Given the description of an element on the screen output the (x, y) to click on. 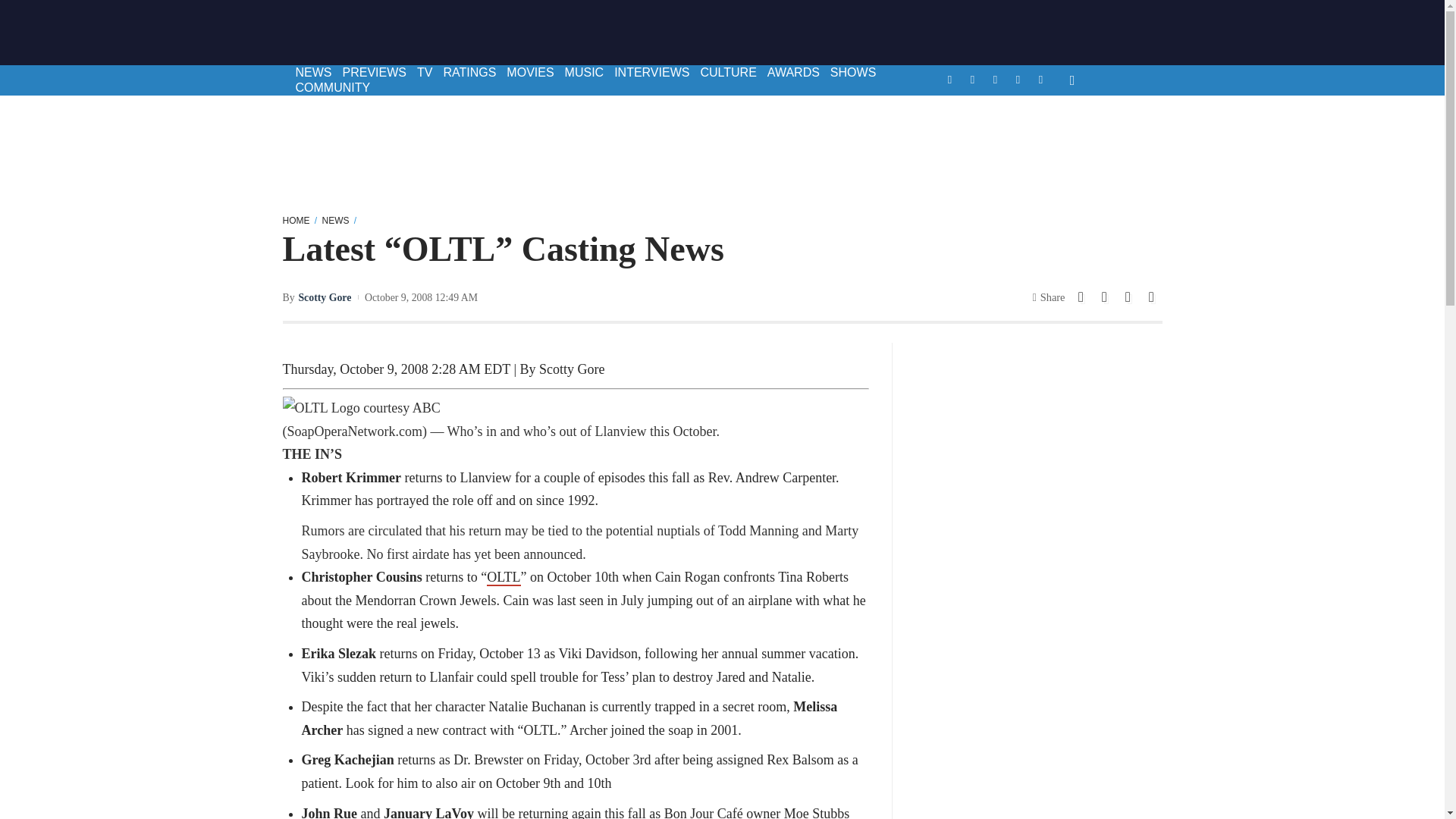
MUSIC (584, 72)
MOVIES (529, 72)
OLTL Logo courtesy ABC (360, 408)
SHOWS (852, 72)
PREVIEWS (373, 72)
TV (425, 72)
NEWS (312, 72)
COMMUNITY (332, 87)
AWARDS (793, 72)
INTERVIEWS (651, 72)
RATINGS (469, 72)
CULTURE (727, 72)
